Given the description of an element on the screen output the (x, y) to click on. 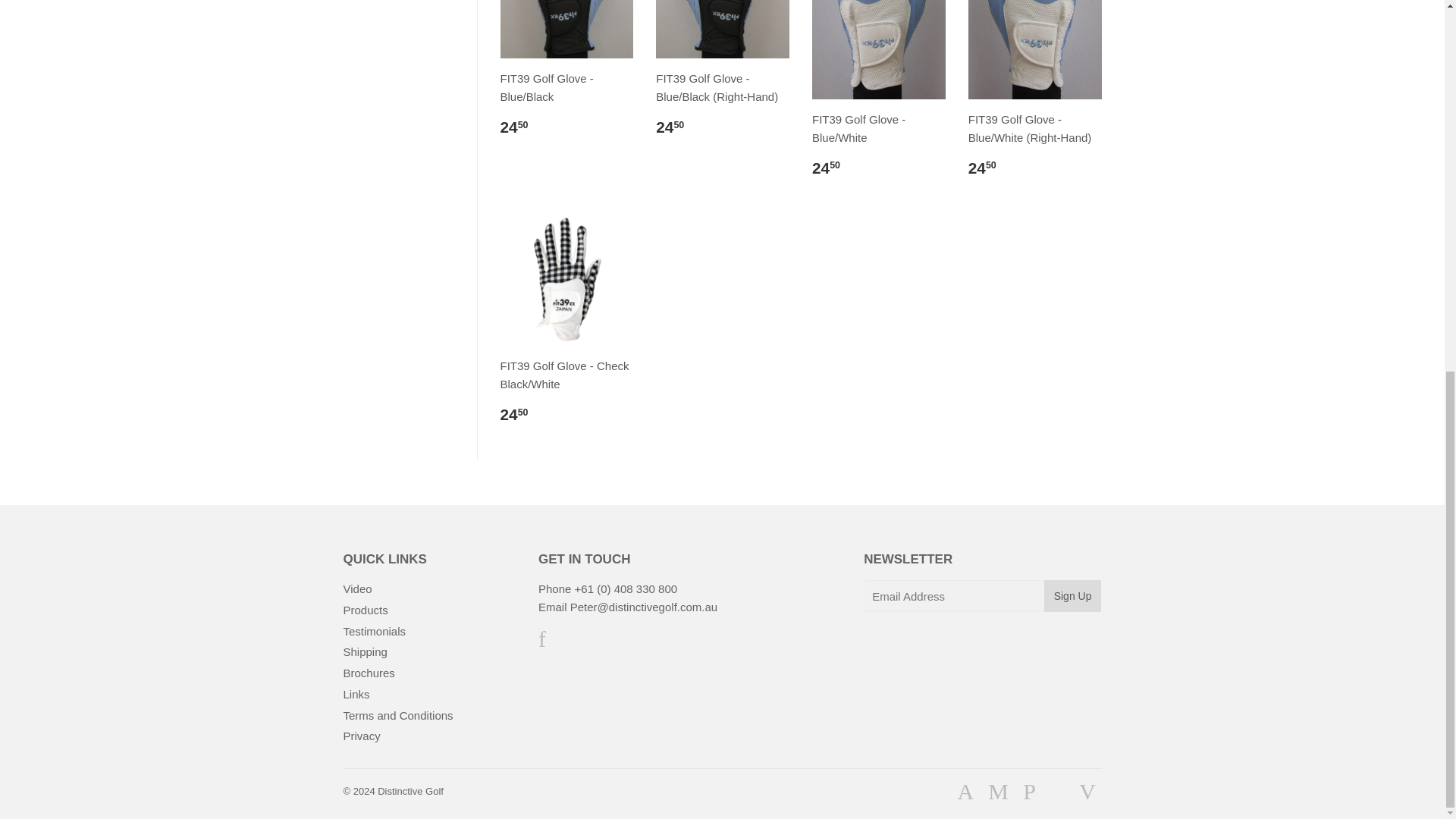
Sign Up (1072, 595)
